Given the description of an element on the screen output the (x, y) to click on. 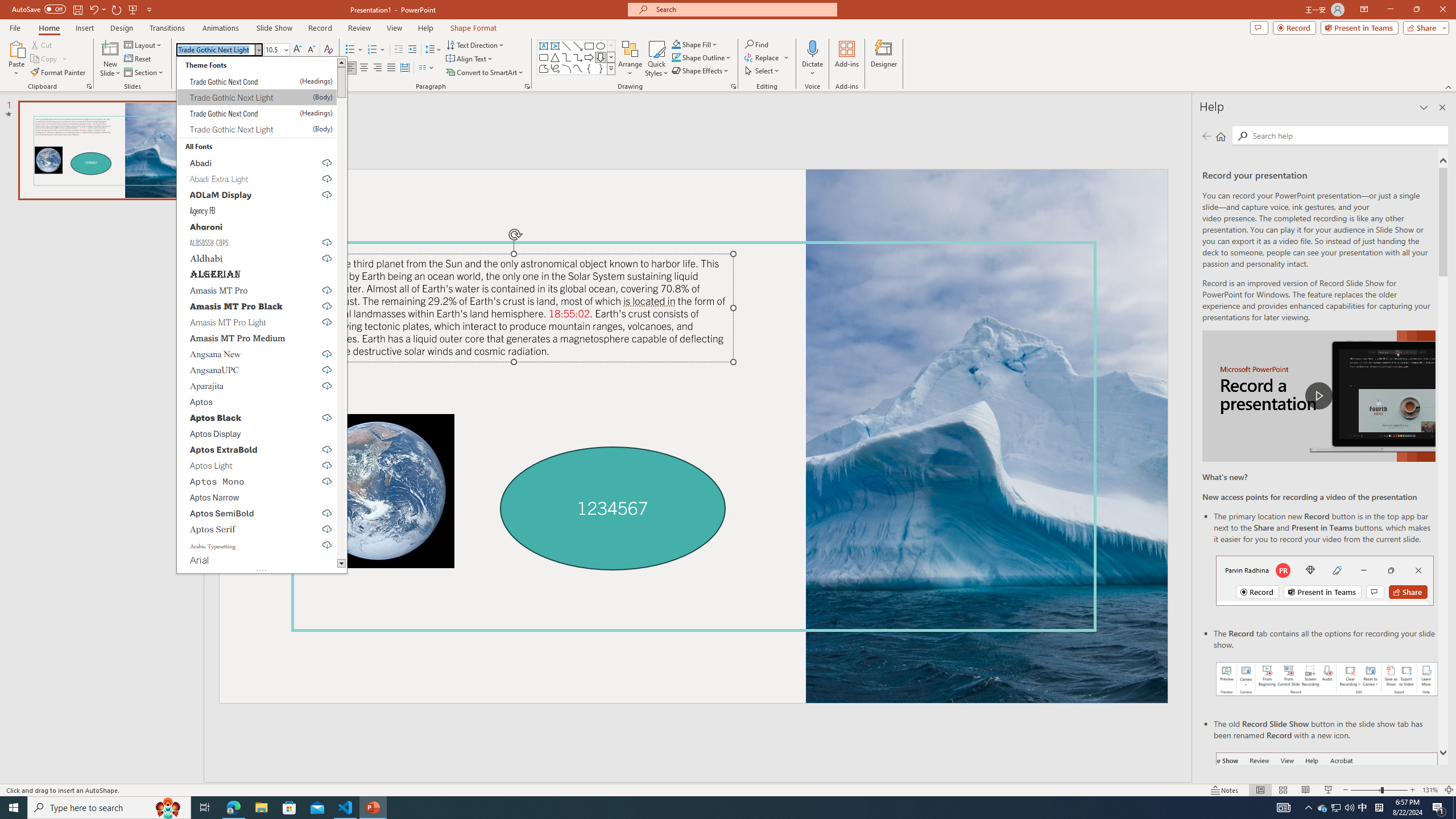
Aptos Narrow (256, 496)
Arrange (630, 58)
Class: NetUIImage (610, 68)
Format Object... (733, 85)
From Beginning (133, 9)
Class: NetUIScrollBar (341, 312)
Help (425, 28)
Decrease Font Size (310, 49)
Insert (83, 28)
Alasassy Caps, select to download (256, 242)
Class: MsoCommandBar (728, 789)
AutoSave (38, 9)
Font (215, 49)
